Given the description of an element on the screen output the (x, y) to click on. 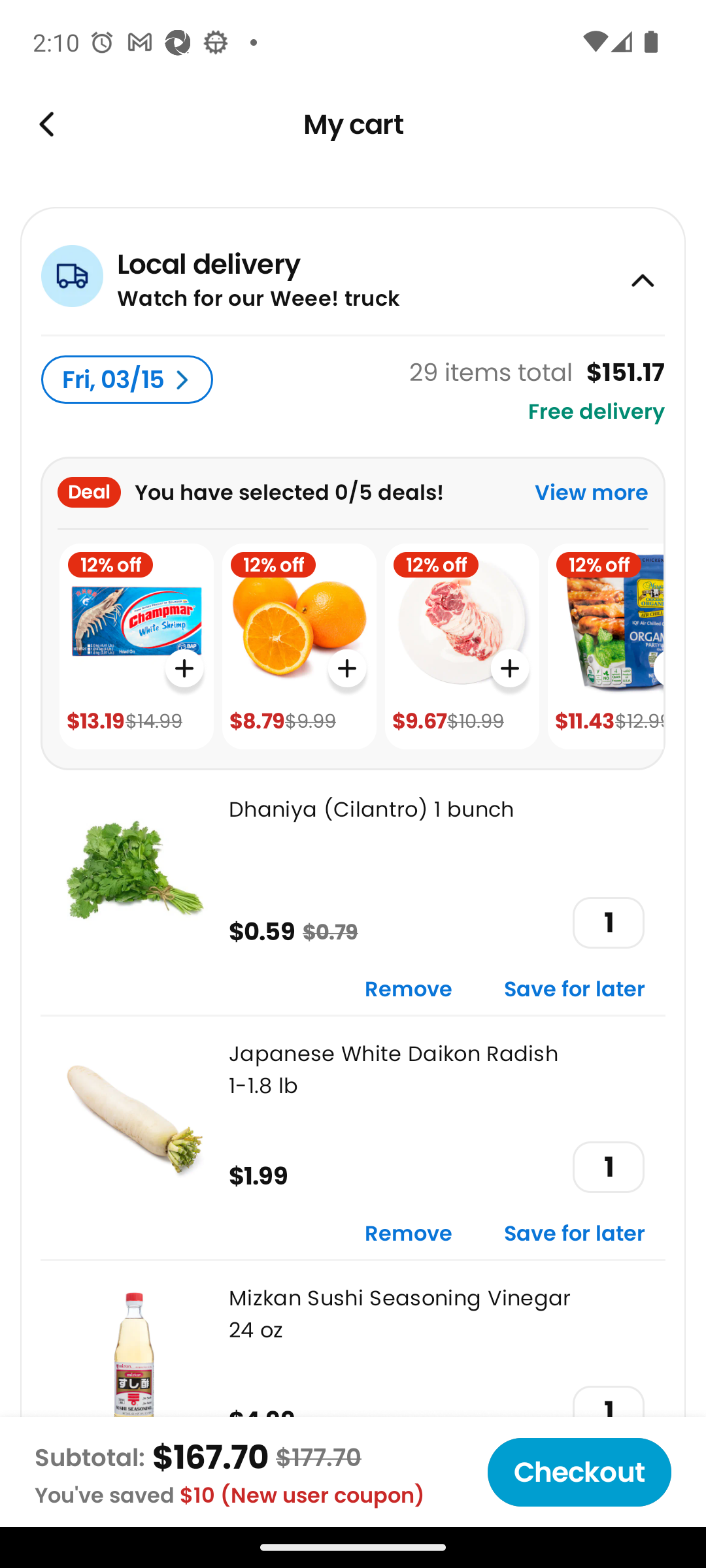
Local delivery Watch for our Weee! truck (352, 269)
Fri, 03/15 (126, 379)
12% off $13.19 $14.99 (136, 646)
12% off $8.79 $9.99 (299, 646)
12% off $9.67 $10.99 (461, 646)
12% off $11.43 $12.99 (605, 646)
1 (608, 922)
Remove (408, 989)
Save for later (574, 989)
1 (608, 1167)
Remove (408, 1234)
Save for later (574, 1234)
1 (608, 1411)
Checkout (579, 1471)
